Given the description of an element on the screen output the (x, y) to click on. 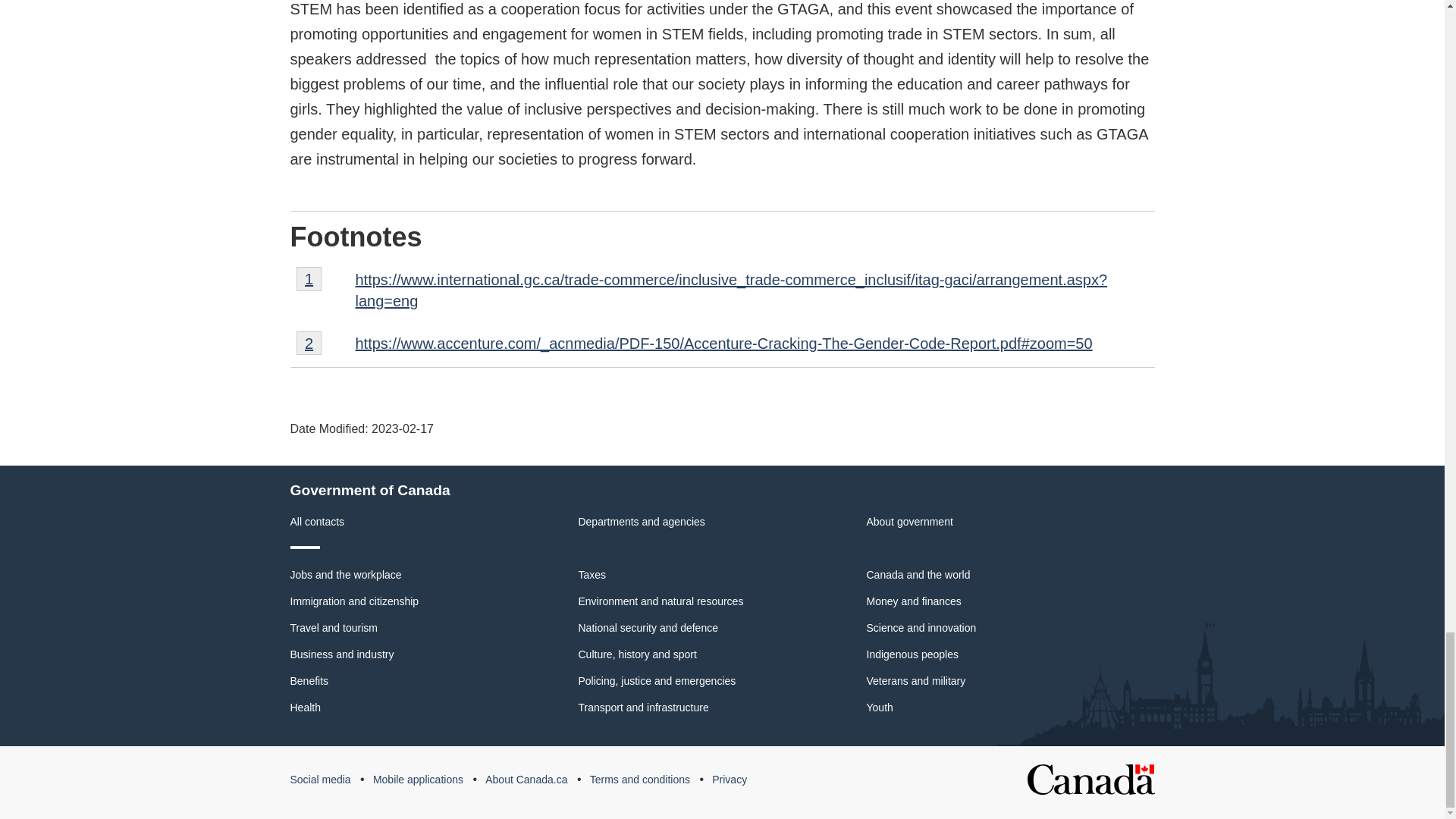
Departments and agencies (641, 521)
About government (309, 278)
Jobs and the workplace (909, 521)
All contacts (345, 574)
Travel and tourism (316, 521)
Immigration and citizenship (333, 627)
